Given the description of an element on the screen output the (x, y) to click on. 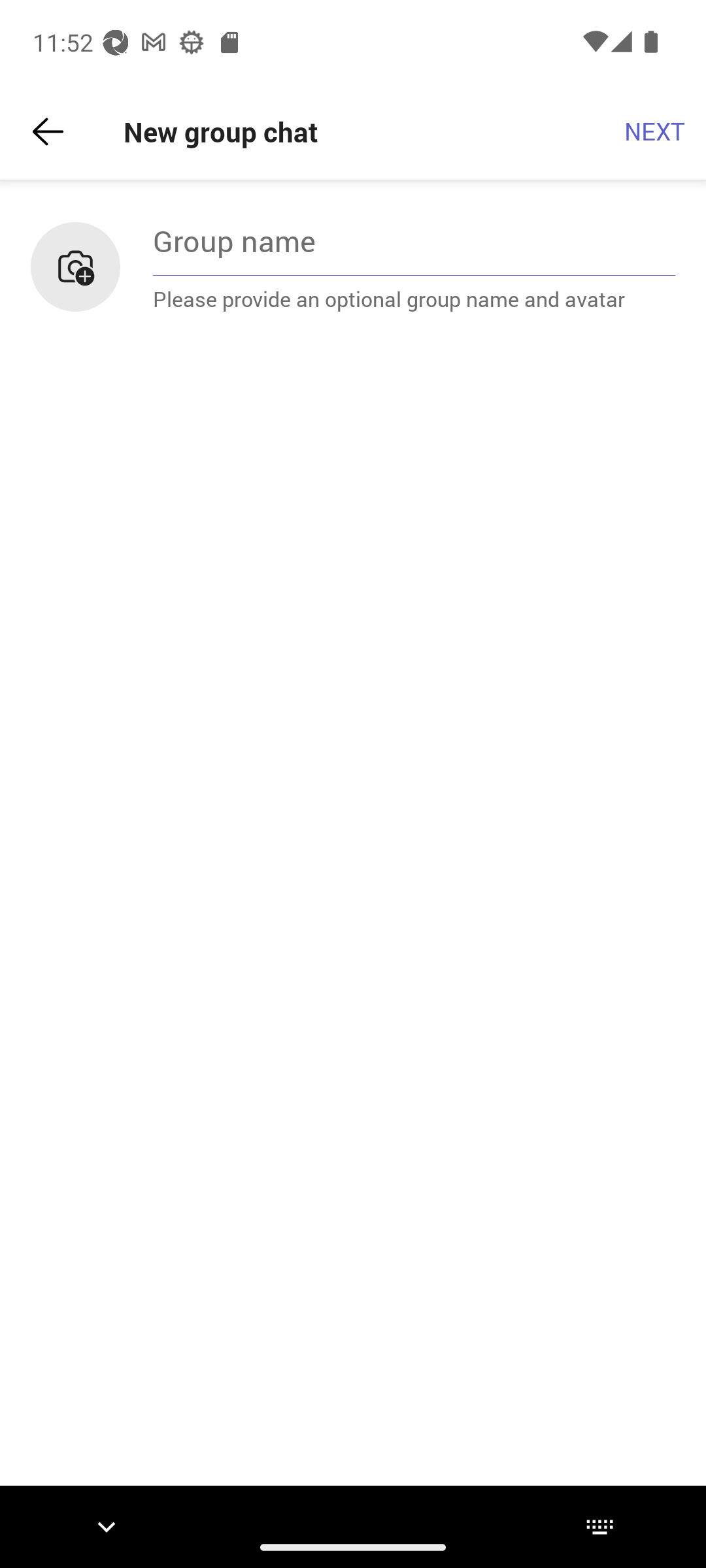
Back (48, 131)
NEXT (654, 131)
Group name (413, 240)
Edit Image (75, 267)
